Given the description of an element on the screen output the (x, y) to click on. 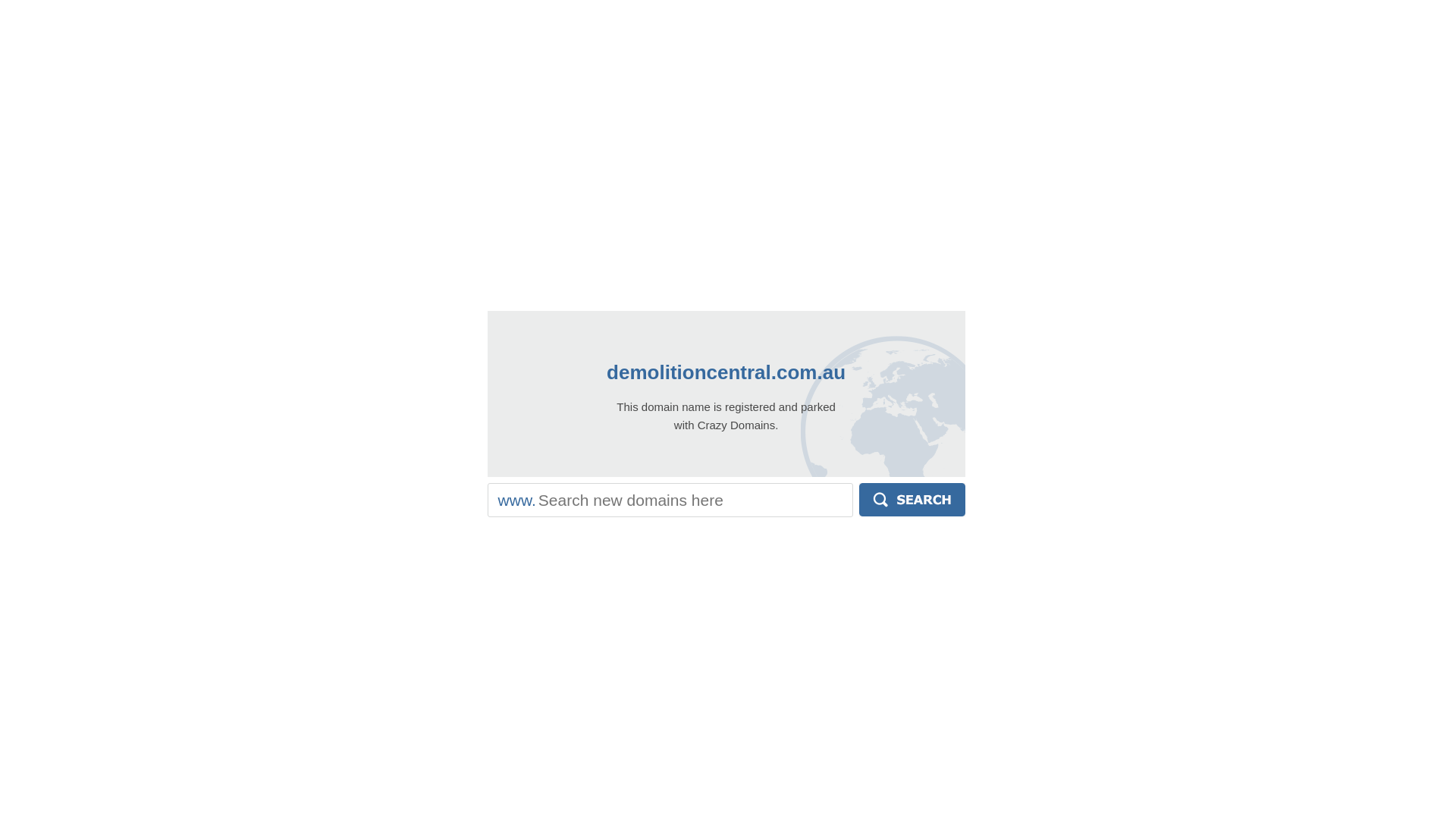
Search Element type: text (912, 499)
